Given the description of an element on the screen output the (x, y) to click on. 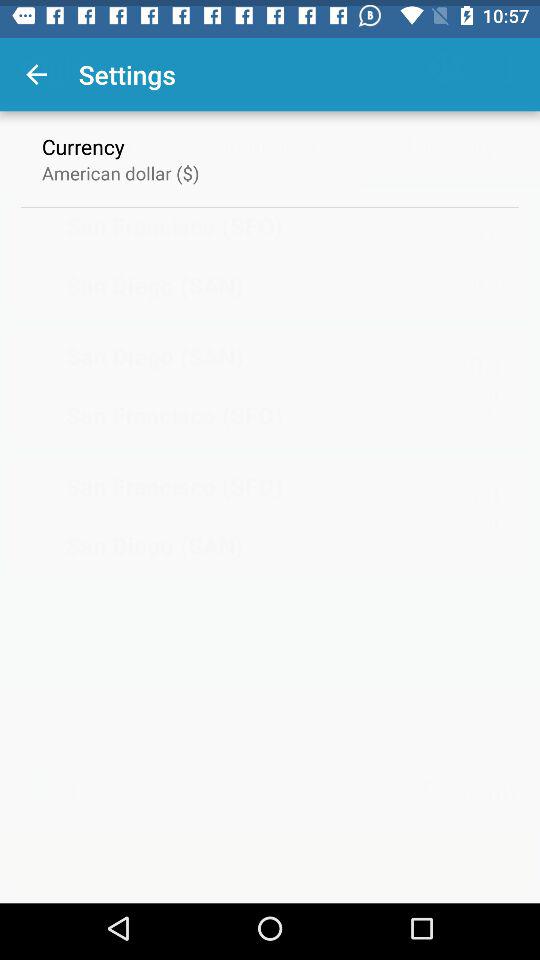
scroll to currency item (83, 139)
